Given the description of an element on the screen output the (x, y) to click on. 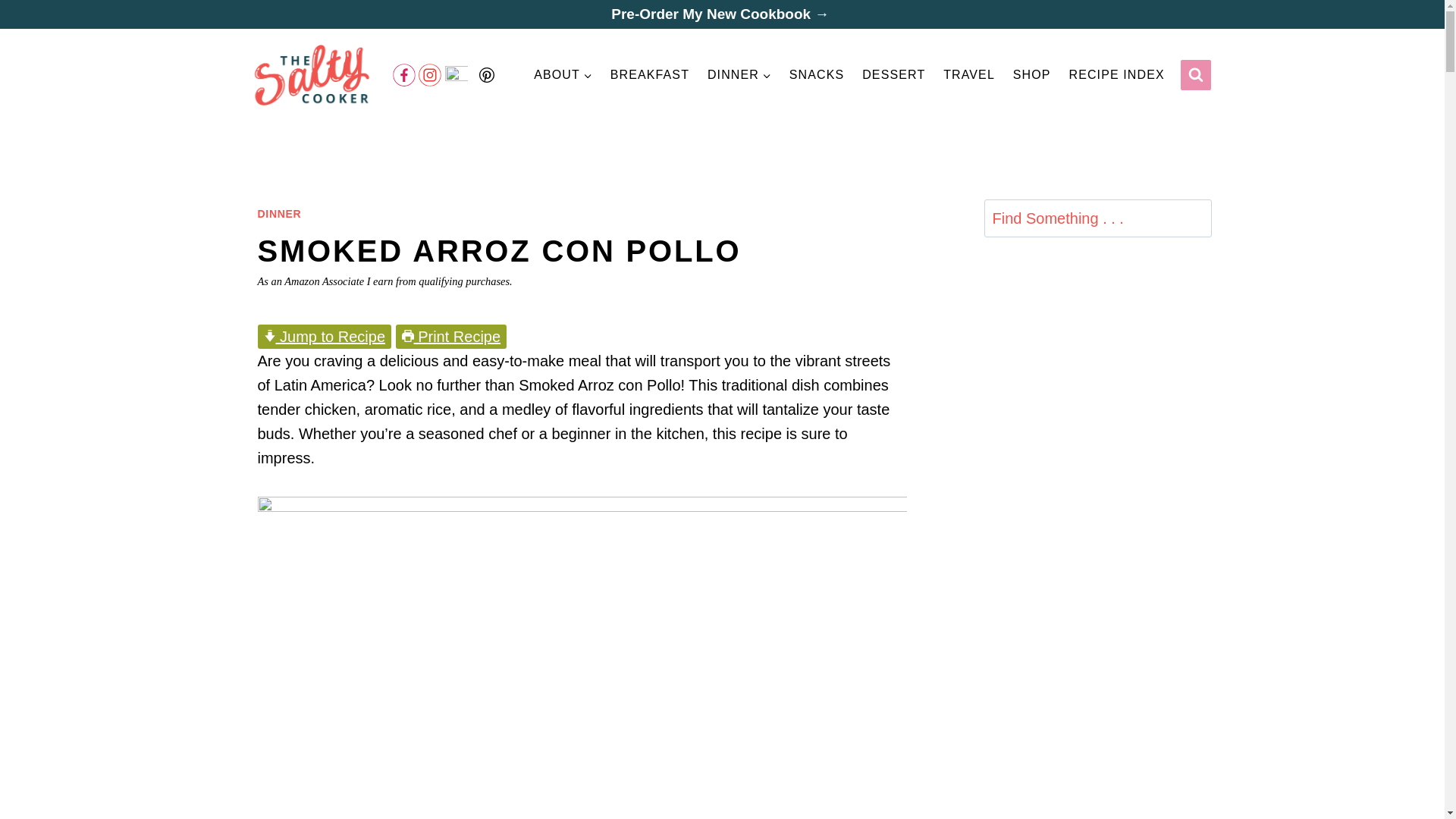
SHOP (1032, 74)
Jump to Recipe (324, 336)
RECIPE INDEX (1116, 74)
SNACKS (816, 74)
Print Recipe (451, 336)
TRAVEL (969, 74)
DESSERT (894, 74)
ABOUT (563, 74)
DINNER (738, 74)
DINNER (279, 214)
BREAKFAST (649, 74)
